Given the description of an element on the screen output the (x, y) to click on. 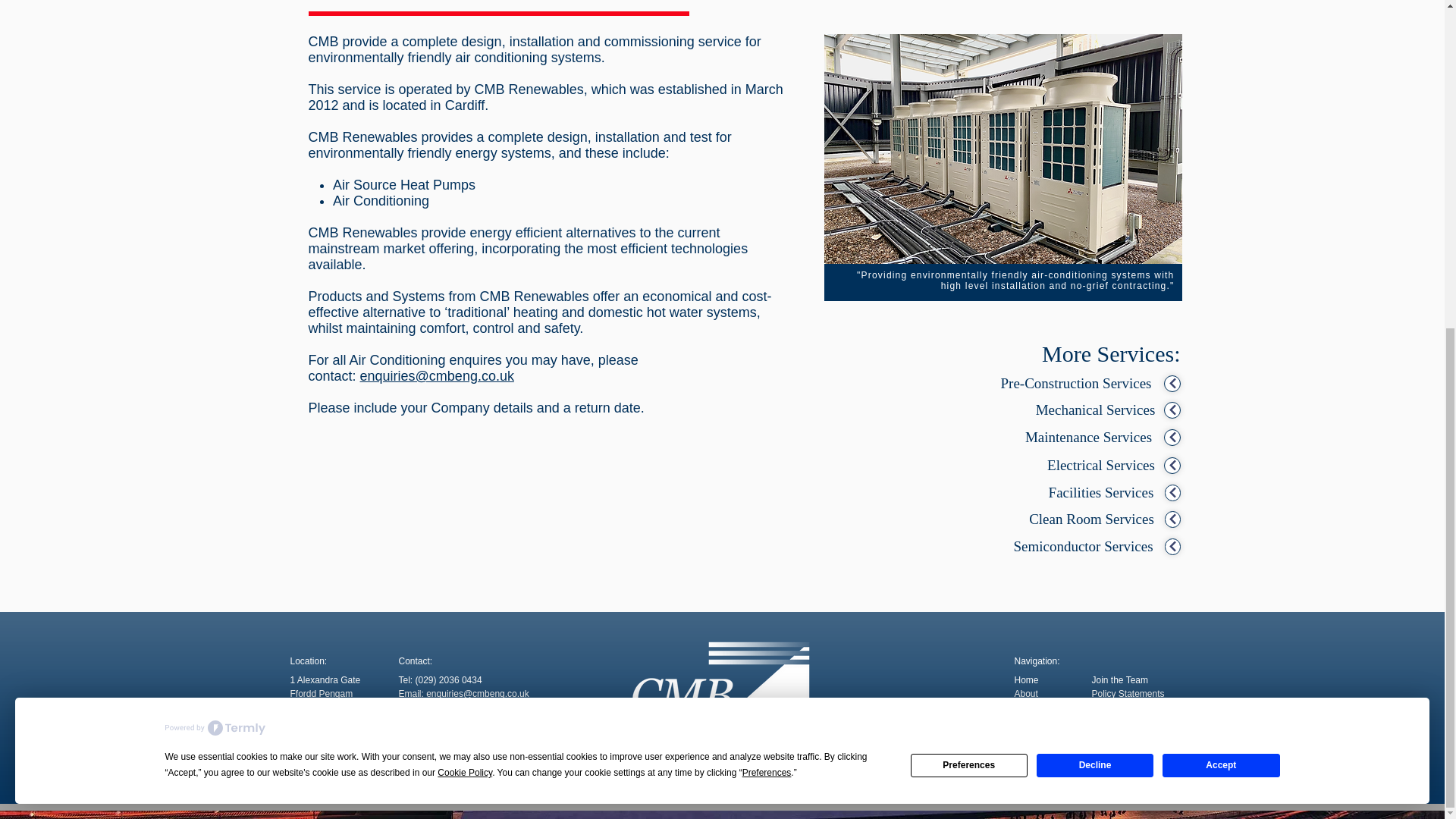
Facilities Services (1100, 492)
Mechanical Services (1095, 410)
Semiconductor Services (1083, 546)
Home (1026, 679)
About (1026, 693)
Decline (1094, 223)
Clean Room Services (1091, 519)
Accept (1220, 223)
Location: (307, 661)
Maintenance Services (1088, 437)
Pre-Construction Services (1074, 383)
Contact: (415, 661)
Preferences (969, 223)
Services (1031, 706)
Electrical Services (1100, 465)
